Given the description of an element on the screen output the (x, y) to click on. 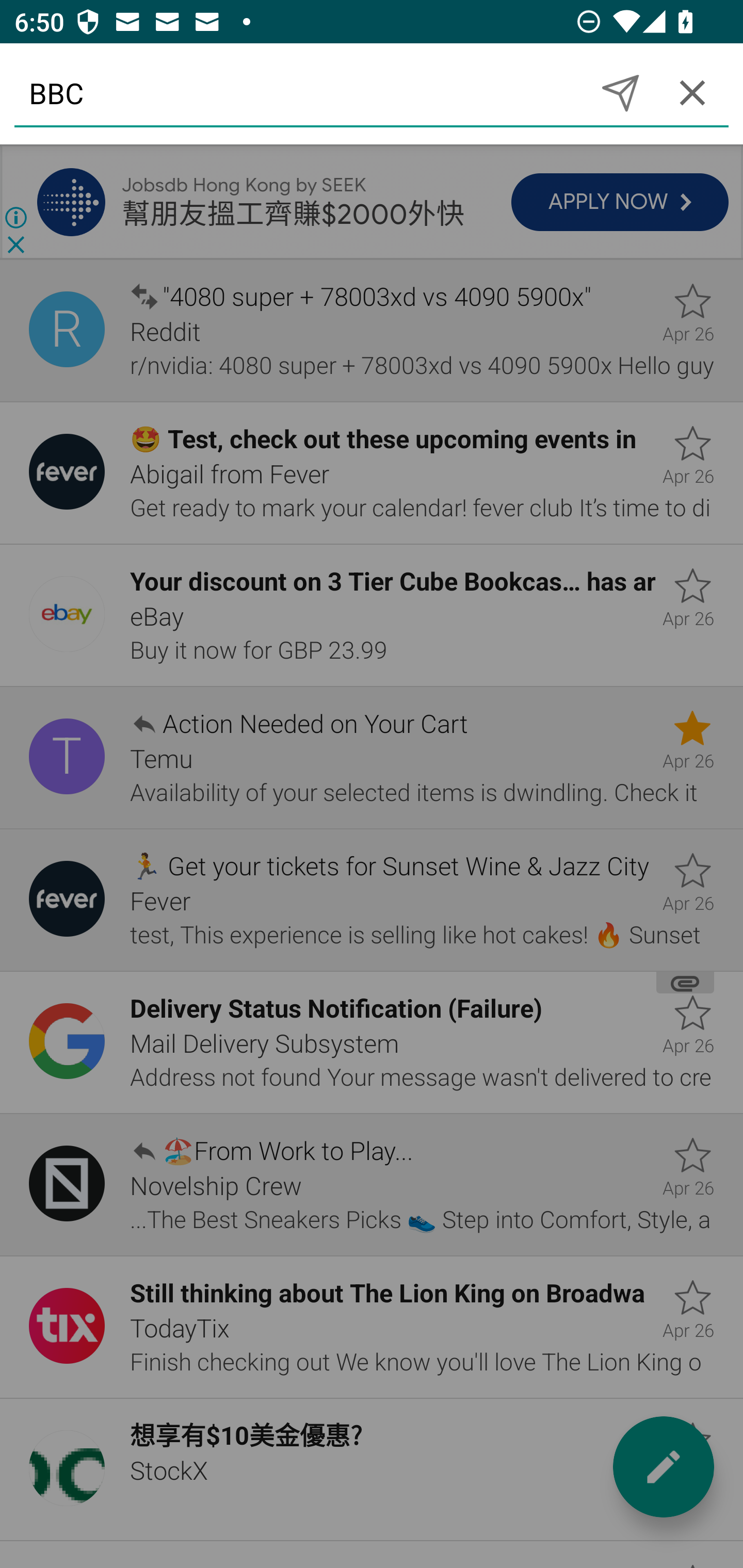
BBC (298, 92)
Search sender only (619, 92)
Cancel (692, 92)
